Given the description of an element on the screen output the (x, y) to click on. 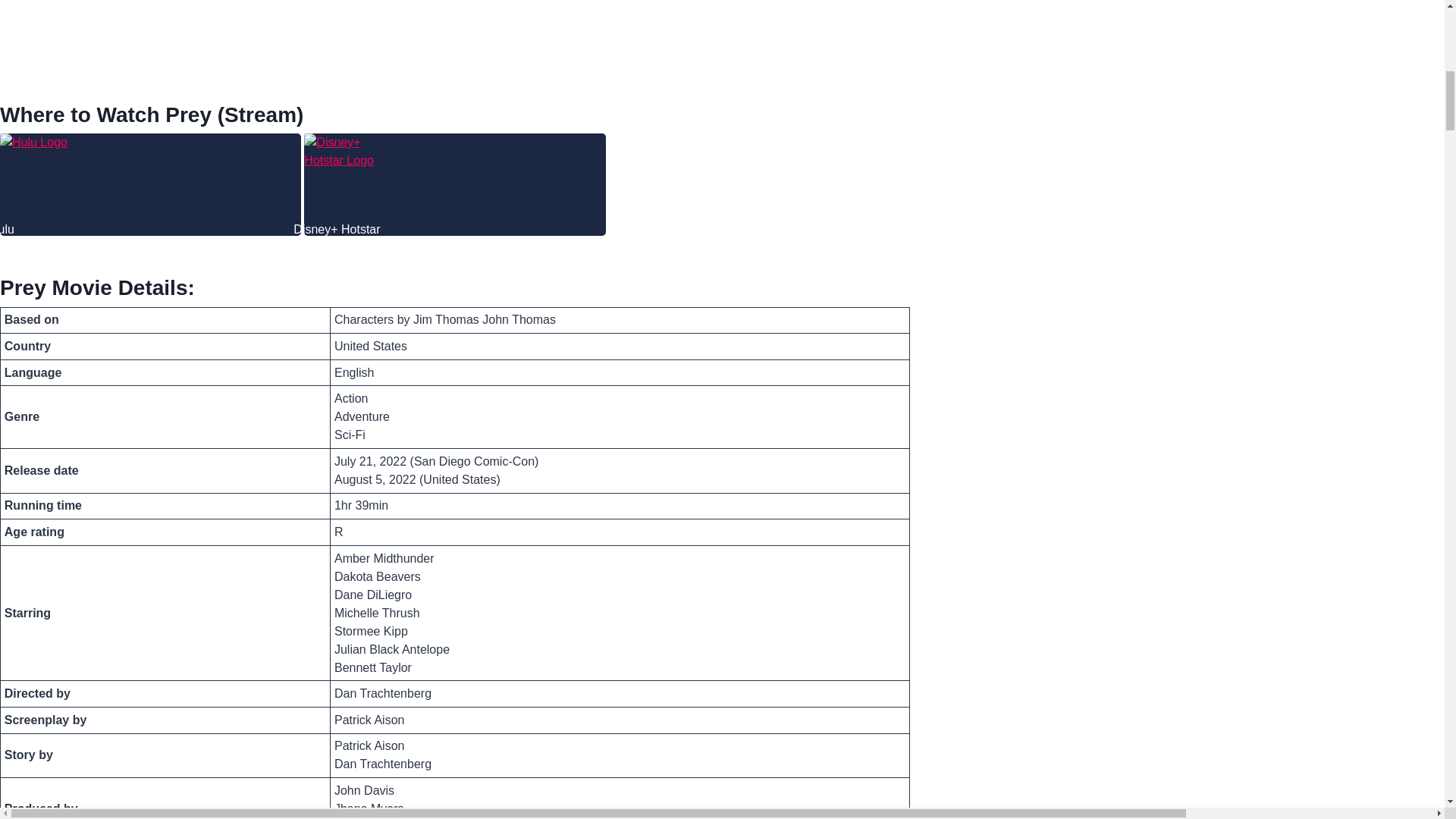
Hulu (45, 178)
Disney-Plus-Hotstar (349, 178)
